Given the description of an element on the screen output the (x, y) to click on. 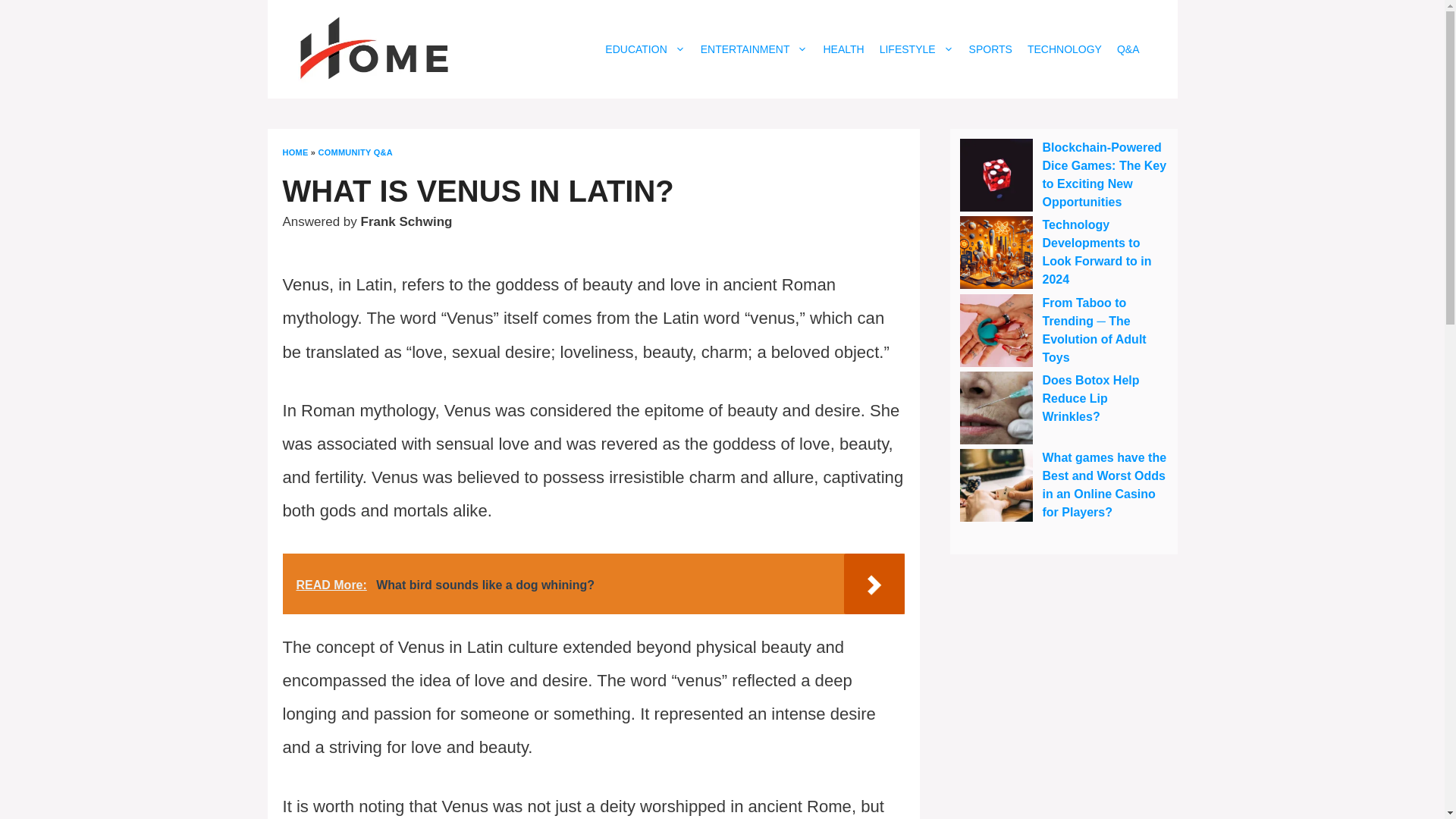
Technology Developments to Look Forward to in 2024 2 (995, 252)
TECHNOLOGY (1064, 48)
EDUCATION (644, 48)
ENTERTAINMENT (754, 48)
Does Botox Help Reduce Lip Wrinkles? 4 (995, 407)
LIFESTYLE (916, 48)
HEALTH (842, 48)
SPORTS (990, 48)
